Given the description of an element on the screen output the (x, y) to click on. 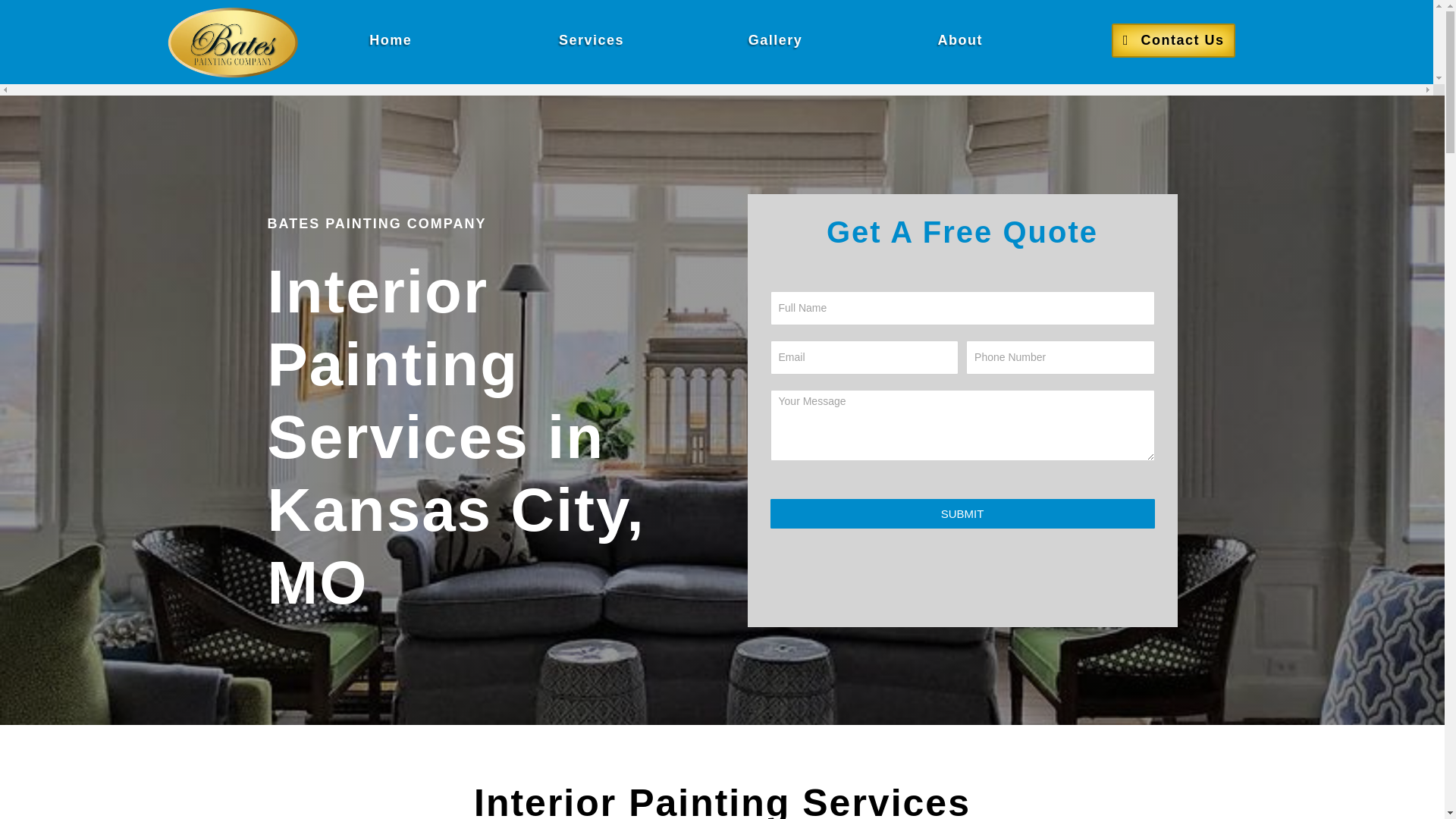
About (960, 40)
SUBMIT (962, 513)
ImgNewLogo2 (232, 42)
Services (591, 40)
Contact Us (1173, 40)
Home (389, 40)
Gallery (775, 40)
